Given the description of an element on the screen output the (x, y) to click on. 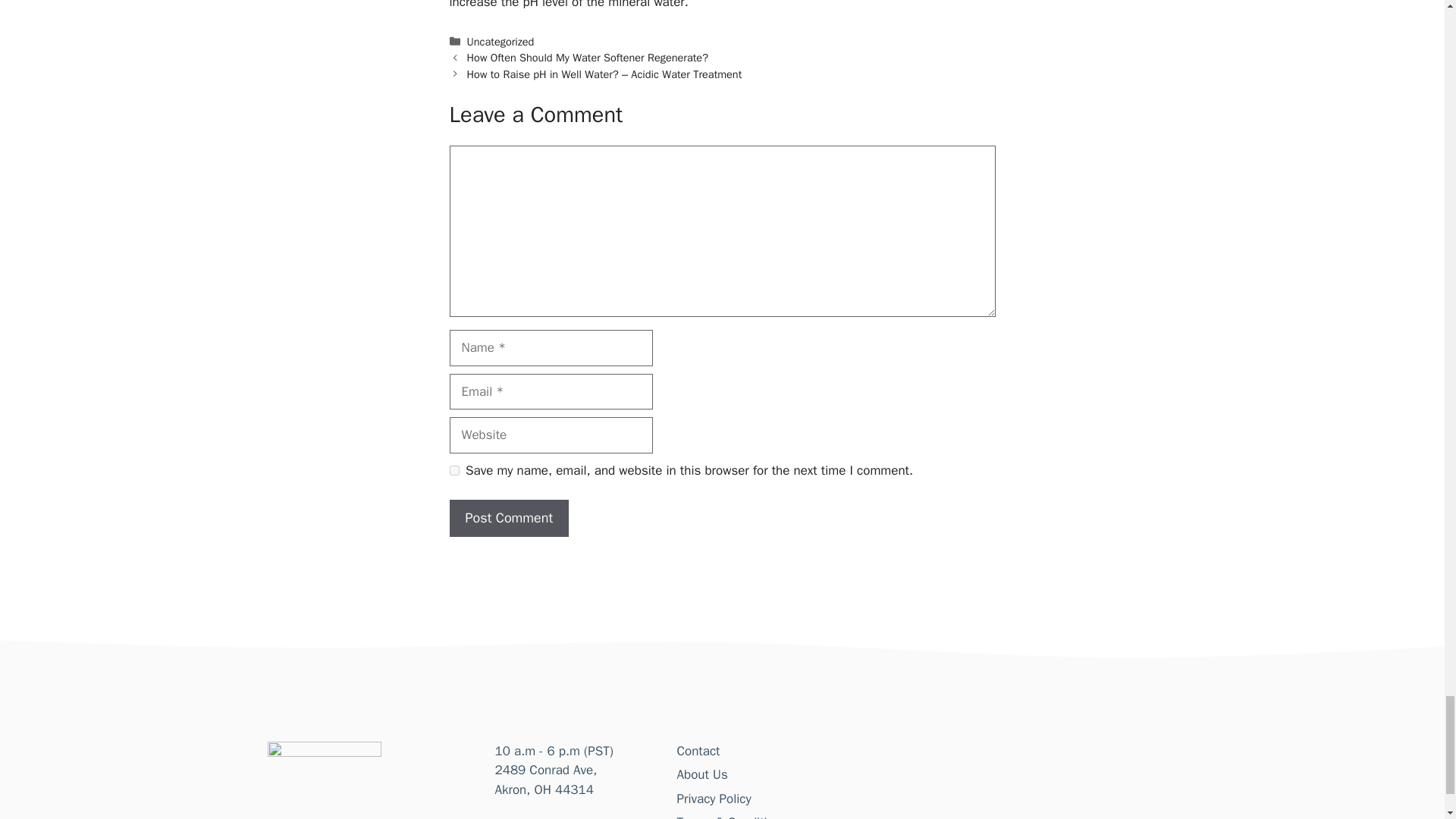
Post Comment (508, 518)
Contact (698, 750)
yes (453, 470)
Next (604, 74)
How Often Should My Water Softener Regenerate? (587, 57)
Uncategorized (500, 41)
Post Comment (508, 518)
About Us (701, 774)
Privacy Policy (714, 798)
Previous (587, 57)
